Given the description of an element on the screen output the (x, y) to click on. 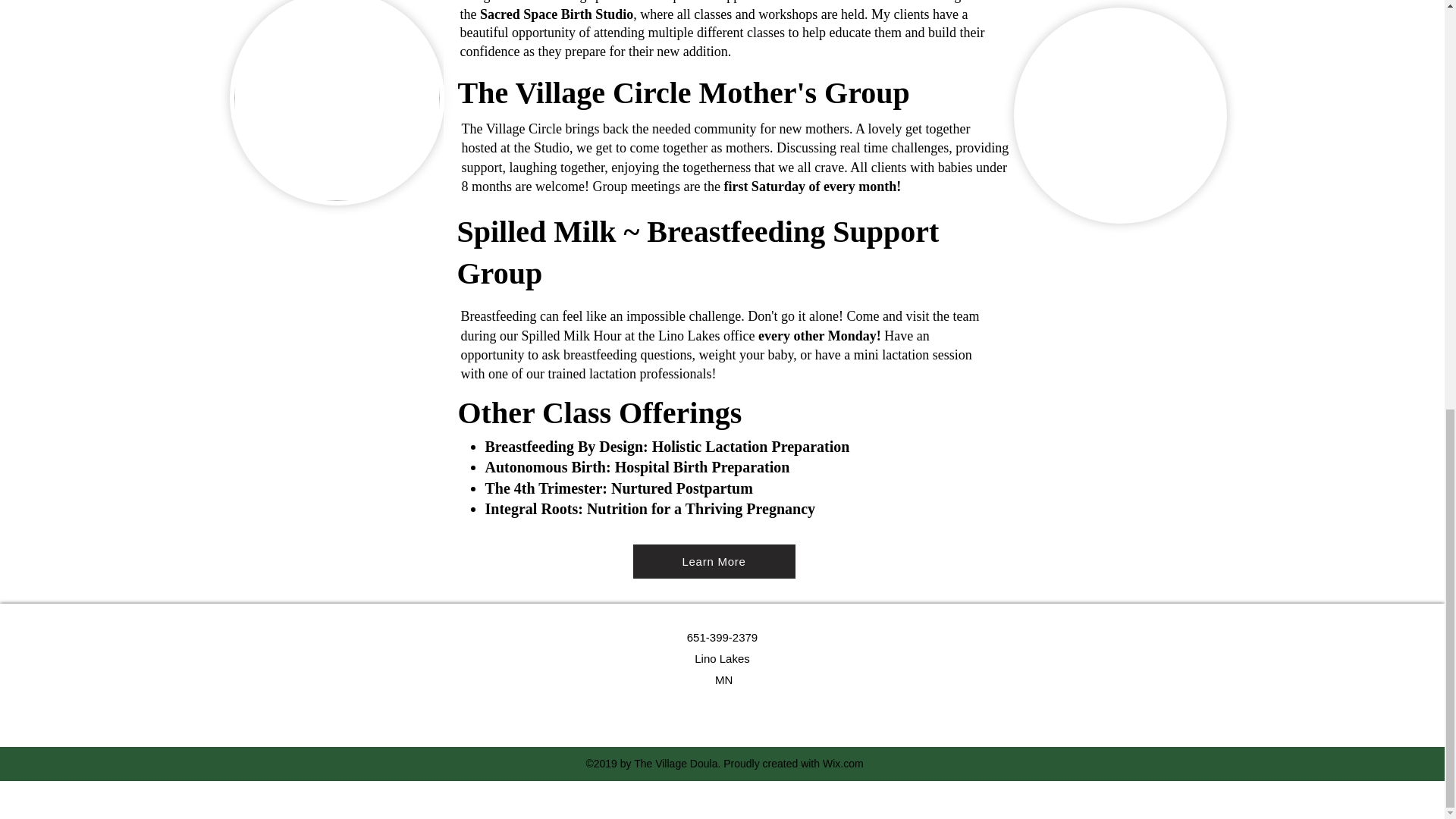
Learn More (712, 561)
